Given the description of an element on the screen output the (x, y) to click on. 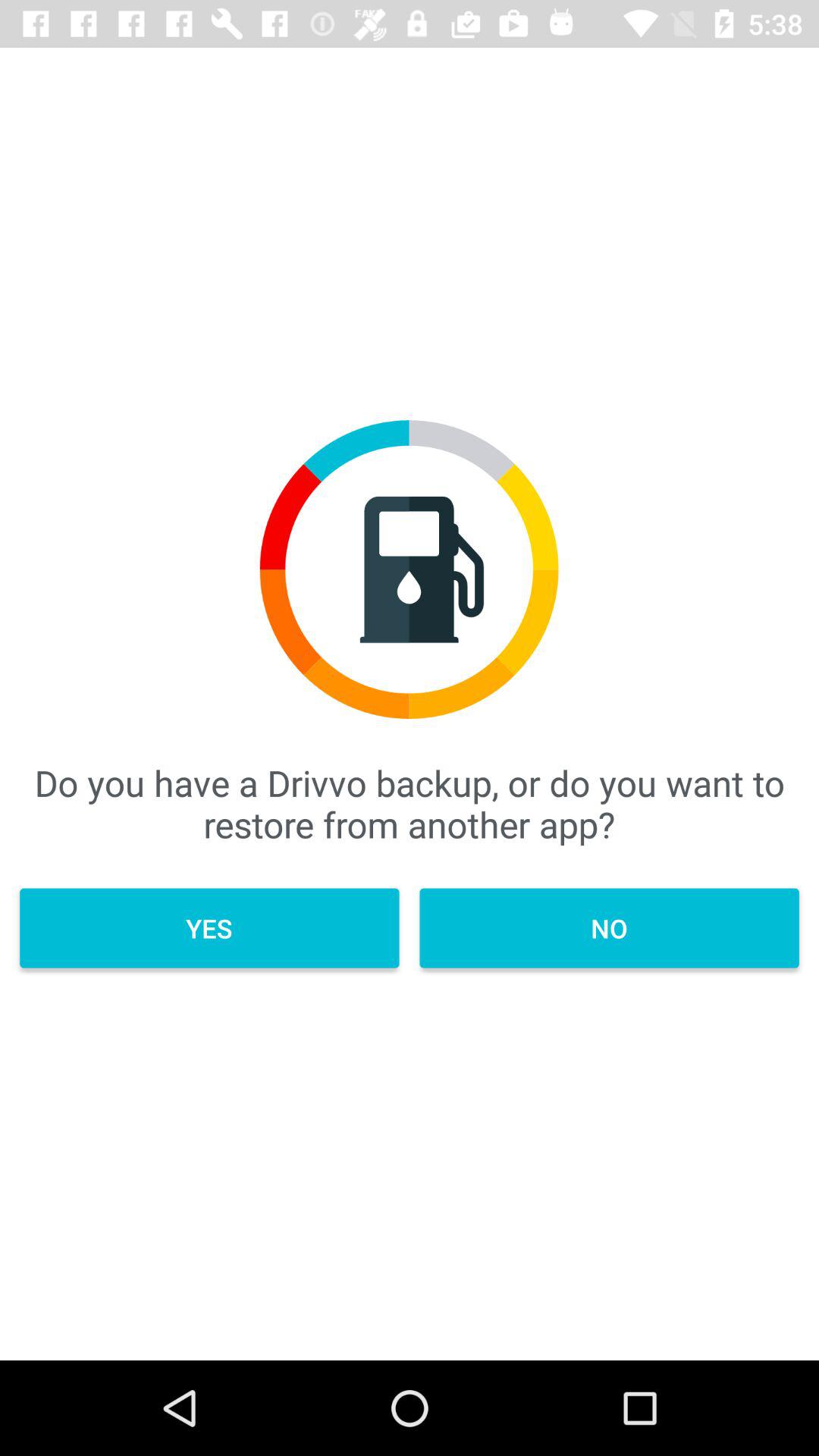
select the icon below do you have item (209, 928)
